Given the description of an element on the screen output the (x, y) to click on. 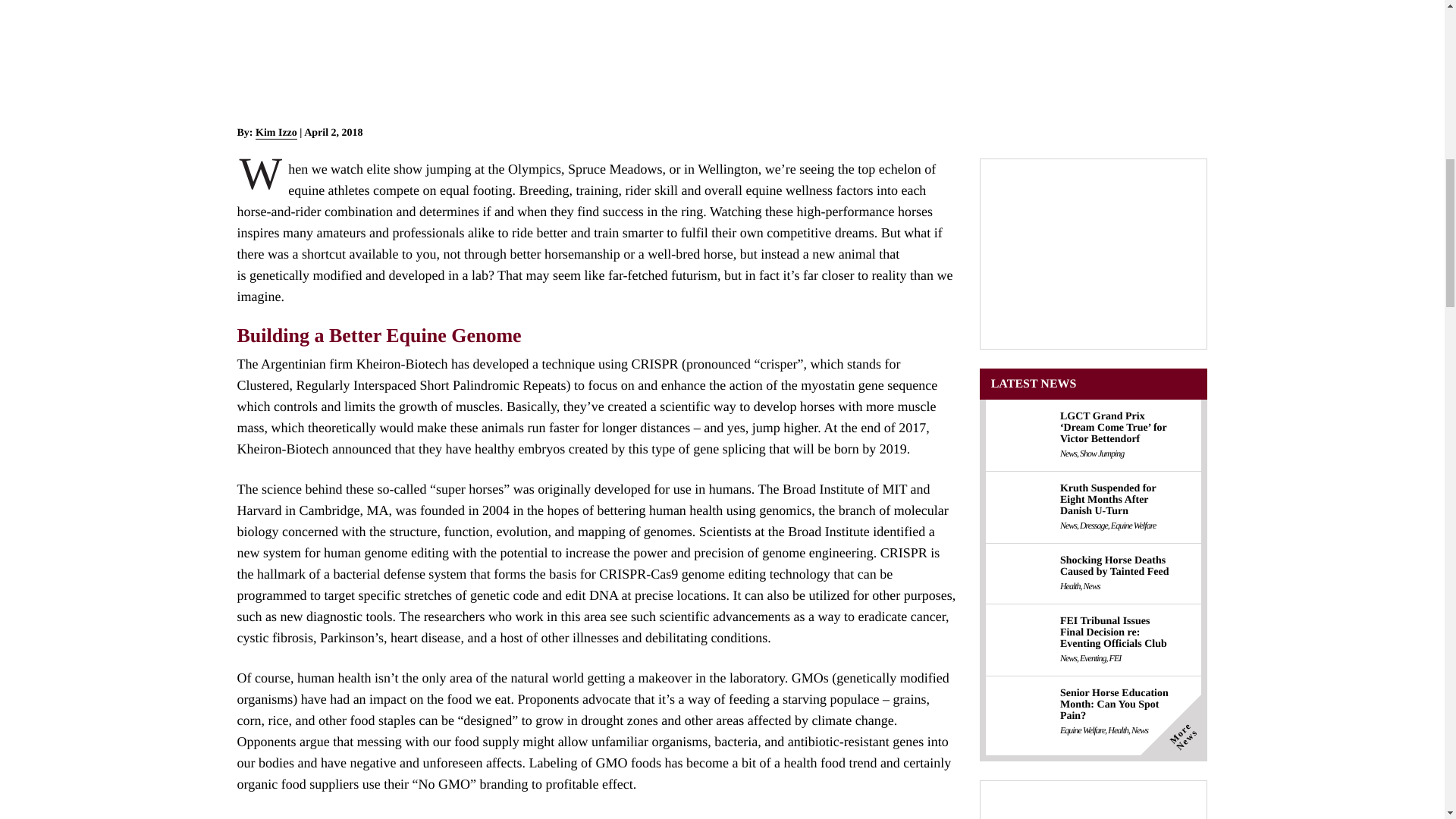
News (1068, 452)
Kim Izzo (276, 133)
Show Jumping (1102, 452)
